Given the description of an element on the screen output the (x, y) to click on. 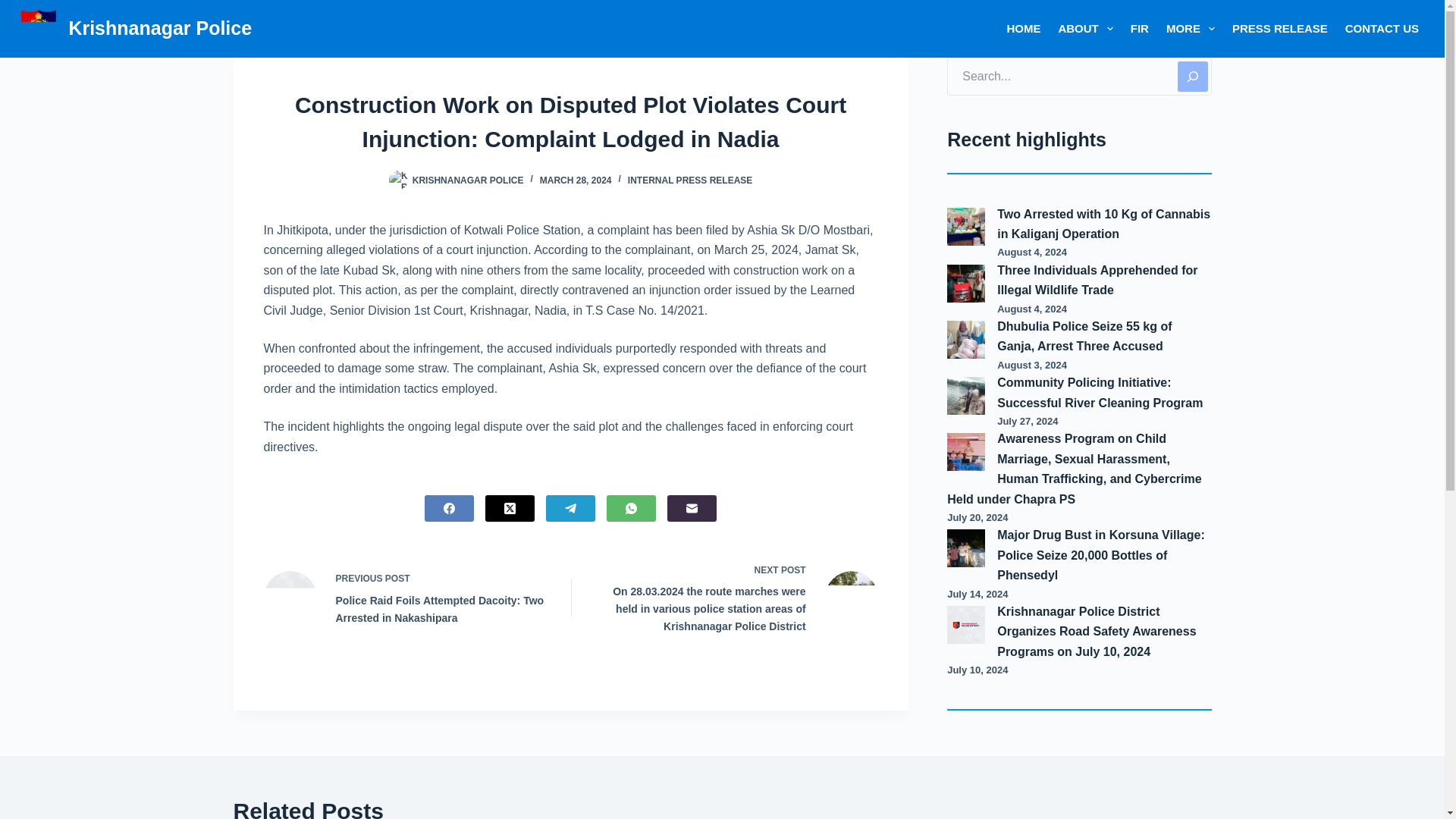
FIR (1139, 28)
ABOUT (1085, 28)
Posts by Krishnanagar Police (468, 180)
MORE (1190, 28)
Krishnanagar Police (159, 27)
CONTACT US (1381, 28)
HOME (1023, 28)
PRESS RELEASE (1279, 28)
Skip to content (15, 7)
